Given the description of an element on the screen output the (x, y) to click on. 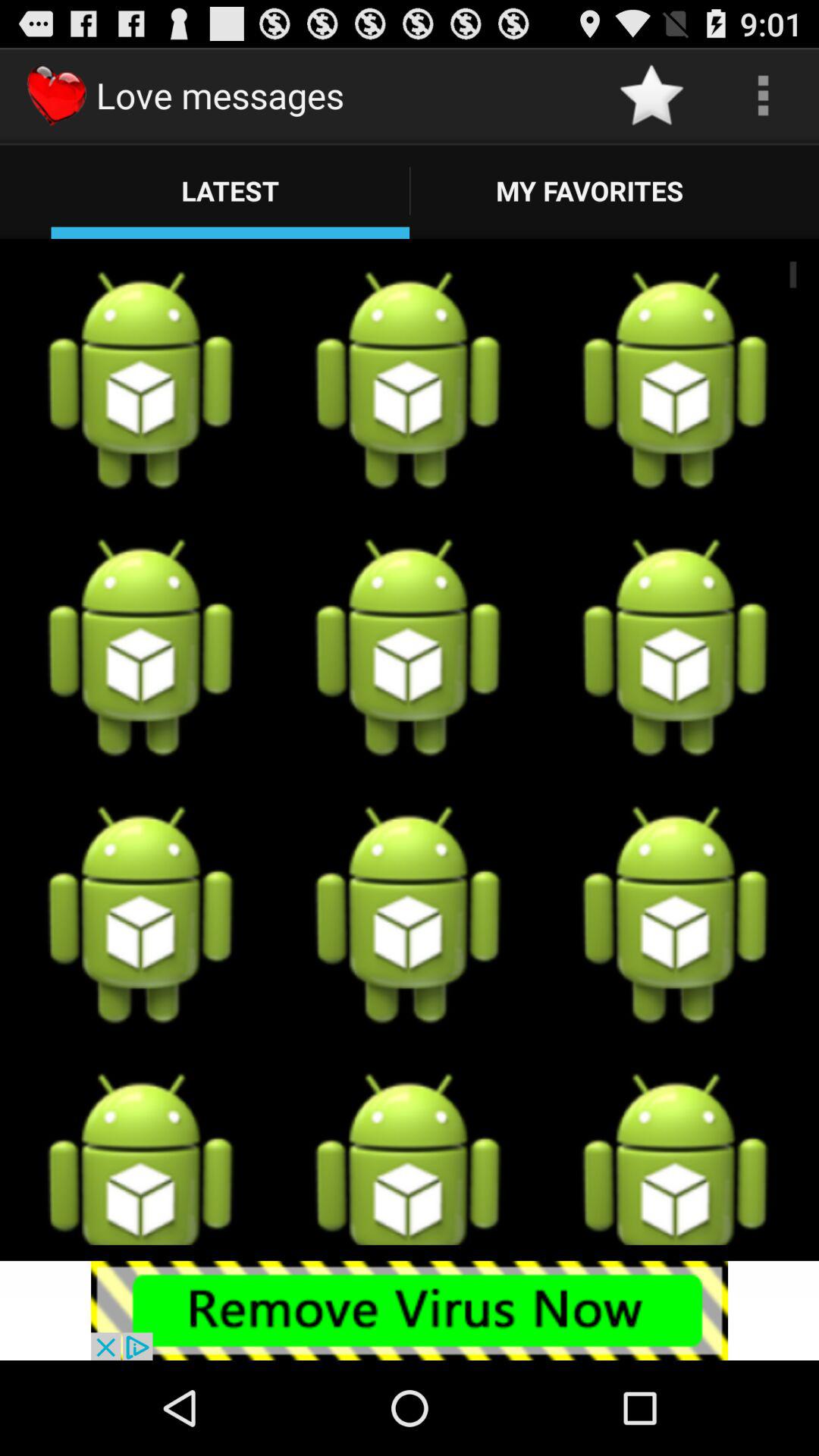
more options (763, 95)
